Given the description of an element on the screen output the (x, y) to click on. 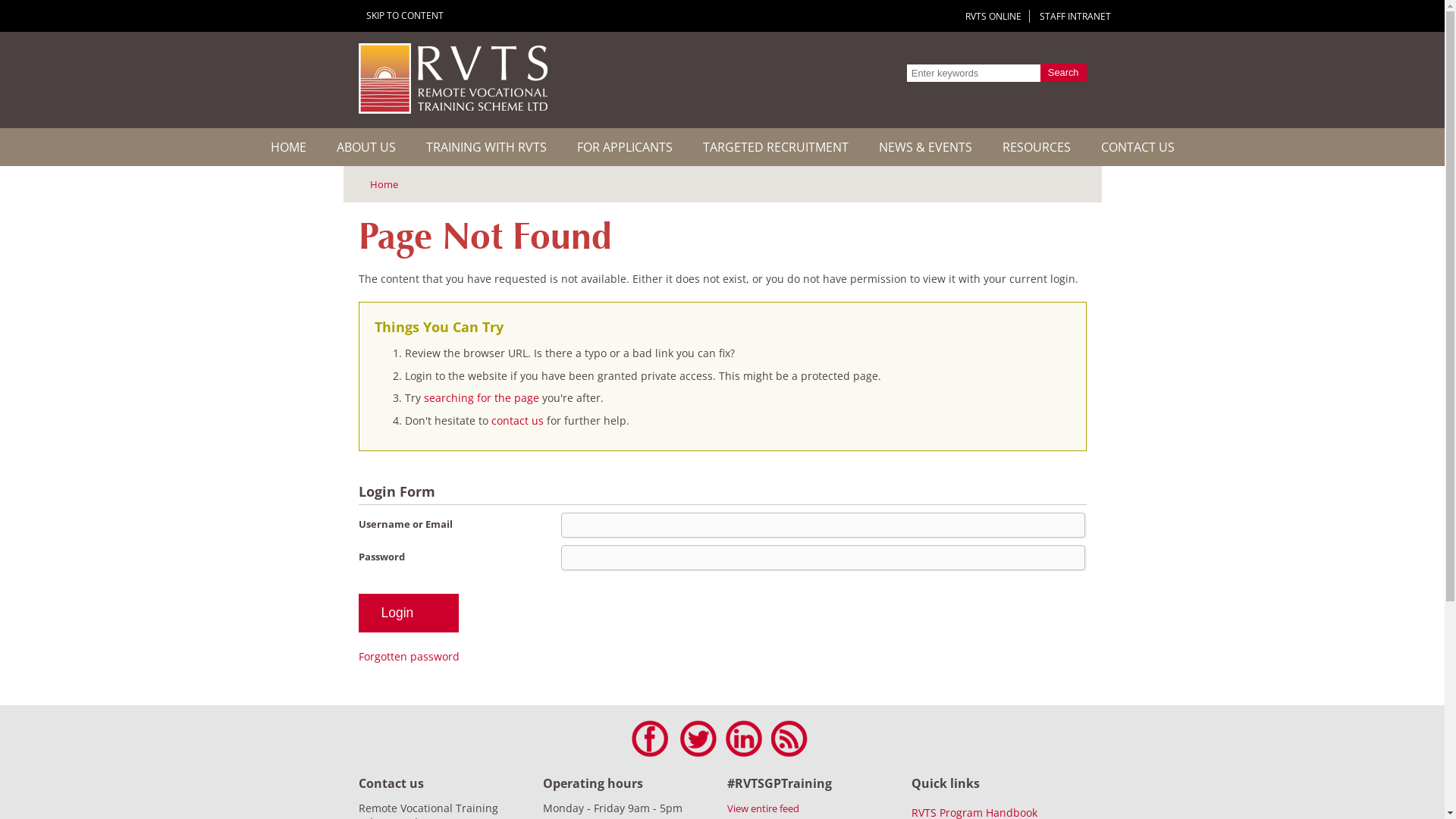
Login Element type: text (407, 612)
TRAINING WITH RVTS Element type: text (486, 147)
View entire feed Element type: text (763, 808)
searching for the page Element type: text (482, 397)
Home Element type: text (377, 184)
Return to the home page Element type: hover (451, 109)
ABOUT US Element type: text (366, 147)
Print Page Element type: text (1019, 182)
TARGETED RECRUITMENT Element type: text (774, 147)
Tweets by RVTS Element type: text (697, 738)
contact us Element type: text (518, 420)
NEWS & EVENTS Element type: text (924, 147)
SKIP TO CONTENT Element type: text (403, 15)
RVTS on LinkedIn Element type: text (742, 738)
Email Page Element type: text (1047, 182)
RVTS on Facebook Element type: text (648, 738)
HOME Element type: text (287, 147)
RESOURCES Element type: text (1036, 147)
CONTACT US Element type: text (1137, 147)
FOR APPLICANTS Element type: text (624, 147)
RVTS ONLINE Element type: text (992, 16)
STAFF INTRANET Element type: text (1074, 16)
RVTS RSS Feed Element type: text (788, 738)
Forgotten password Element type: text (407, 656)
Search Element type: text (1063, 72)
